Given the description of an element on the screen output the (x, y) to click on. 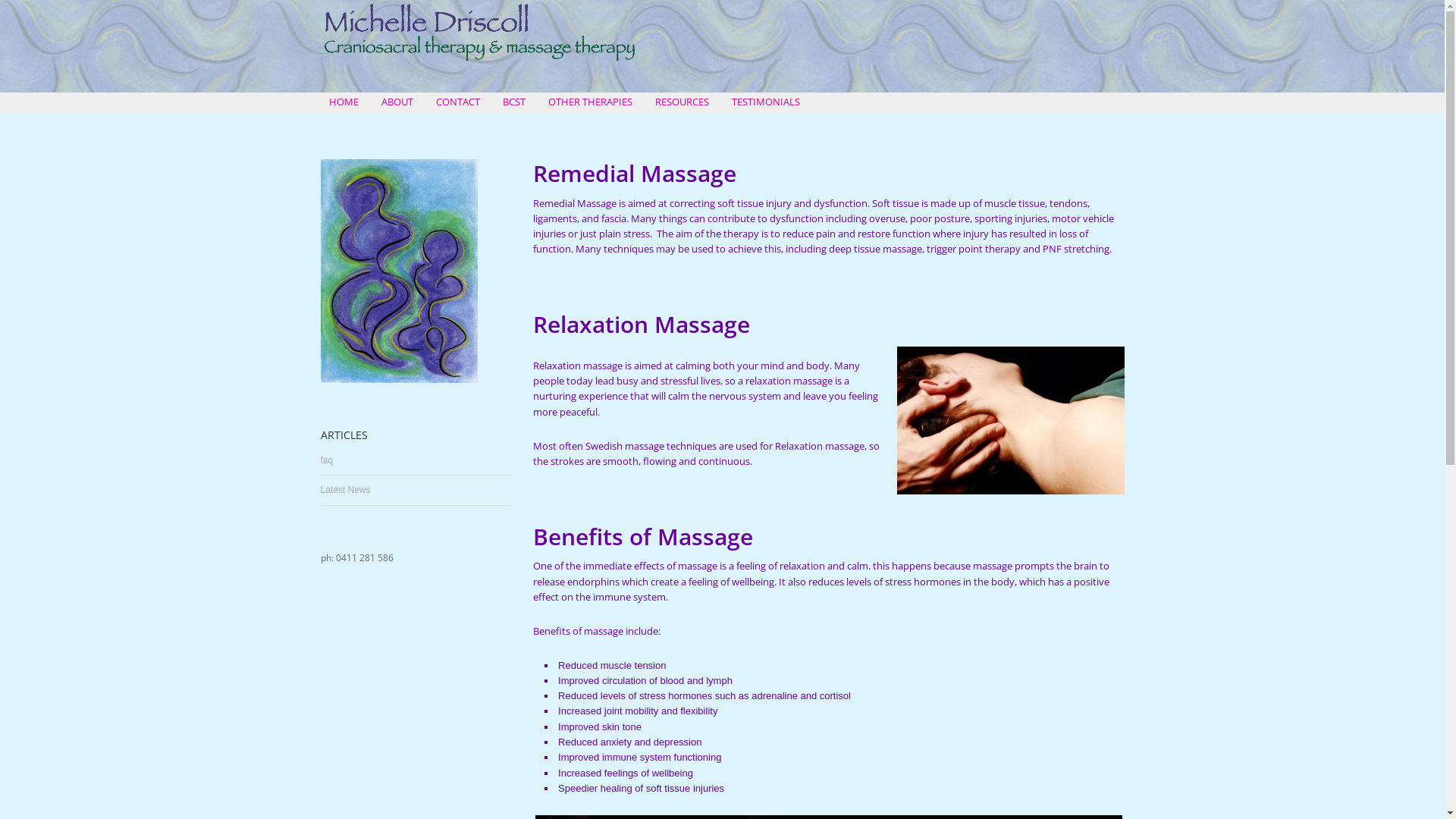
RESOURCES Element type: text (682, 101)
CONTACT Element type: text (458, 101)
OTHER THERAPIES Element type: text (590, 101)
faq Element type: text (326, 460)
TESTIMONIALS Element type: text (765, 101)
ABOUT Element type: text (397, 101)
HOME Element type: text (343, 101)
BCST Element type: text (513, 101)
Latest News Element type: text (345, 489)
